Given the description of an element on the screen output the (x, y) to click on. 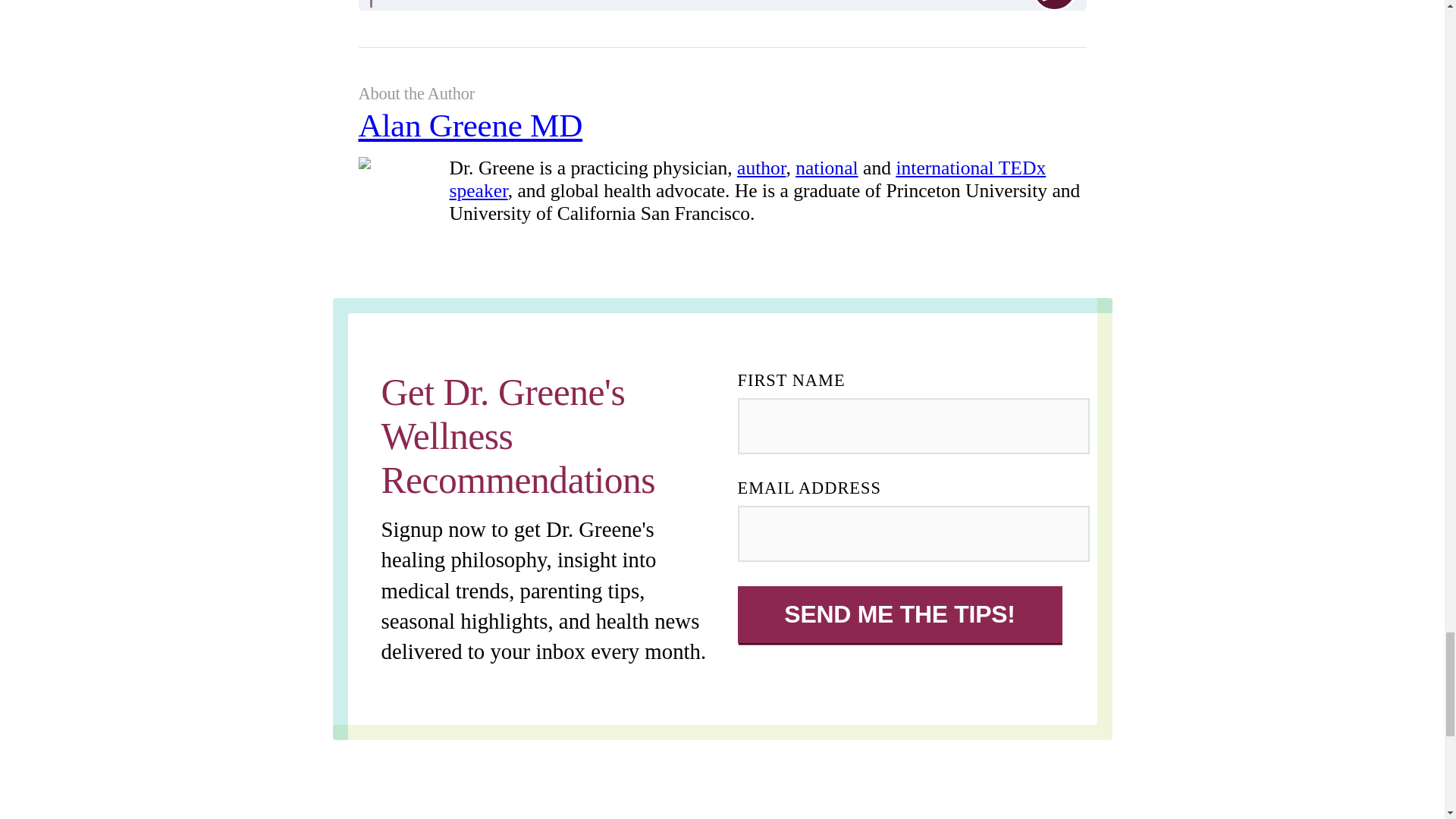
national (825, 168)
Alan Greene MD (722, 132)
author (761, 168)
international TEDx speaker (746, 179)
SEND ME THE TIPS! (898, 614)
